Given the description of an element on the screen output the (x, y) to click on. 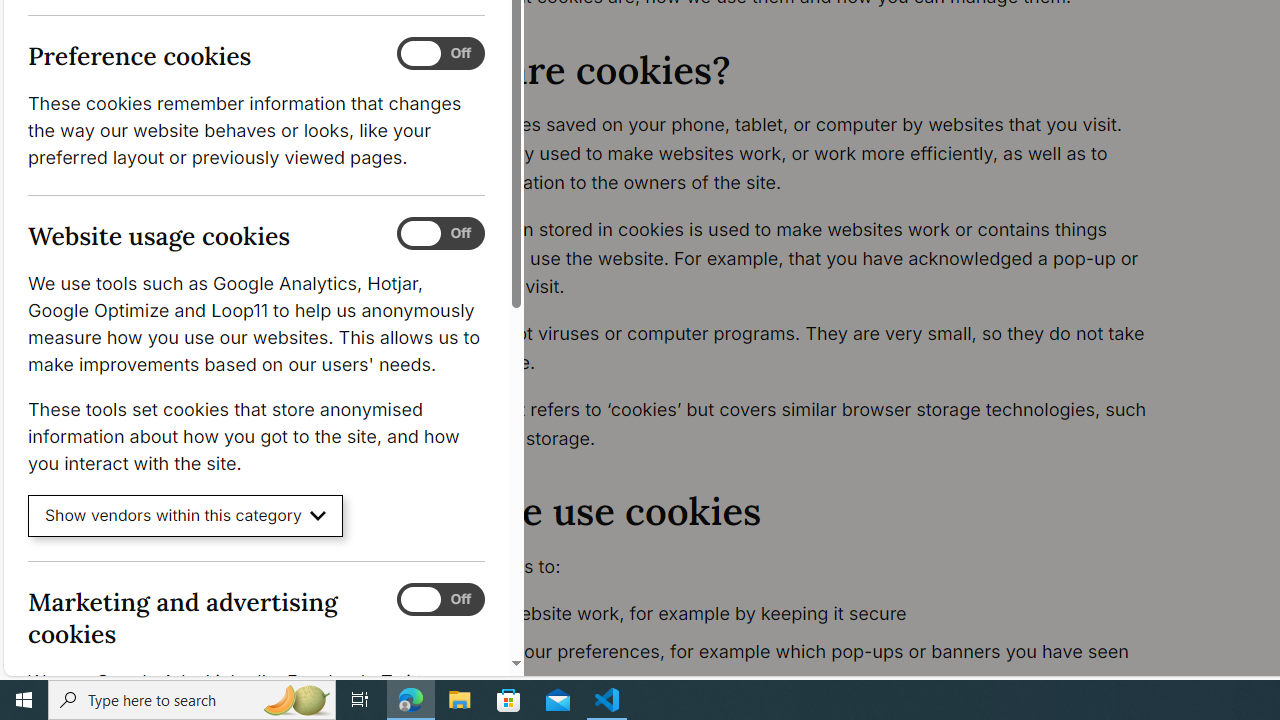
Marketing and advertising cookies (440, 599)
Preference cookies (440, 53)
make our website work, for example by keeping it secure (796, 614)
Show vendors within this category (185, 516)
Website usage cookies (440, 233)
